Given the description of an element on the screen output the (x, y) to click on. 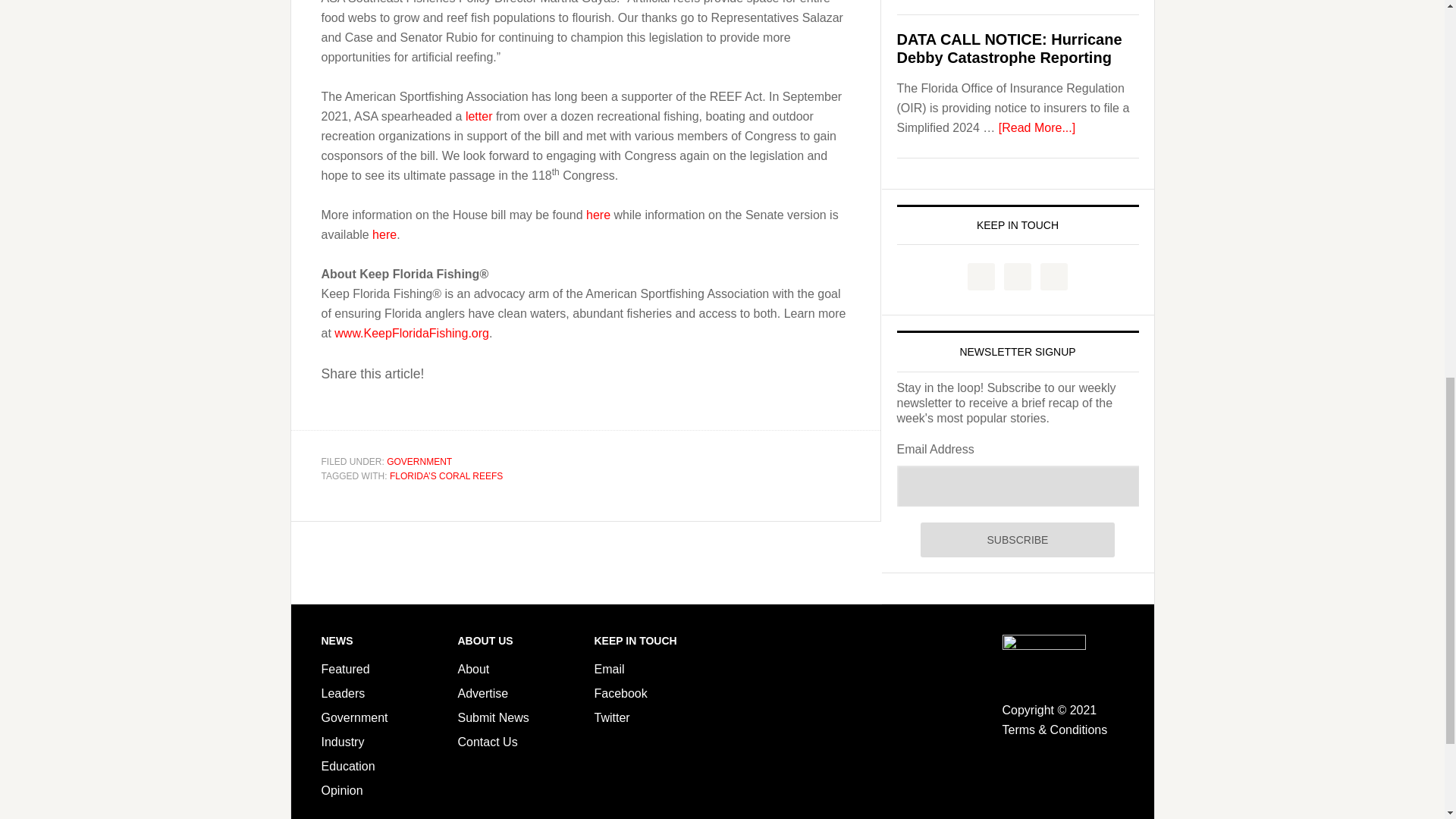
Share on Twitter (376, 407)
www.KeepFloridaFishing.org (411, 332)
Leaders (343, 693)
Share on Facebook (338, 407)
Featured (345, 668)
Subscribe (1016, 539)
DATA CALL NOTICE: Hurricane Debby Catastrophe Reporting (1008, 48)
here (384, 234)
GOVERNMENT (419, 461)
letter (479, 115)
